Given the description of an element on the screen output the (x, y) to click on. 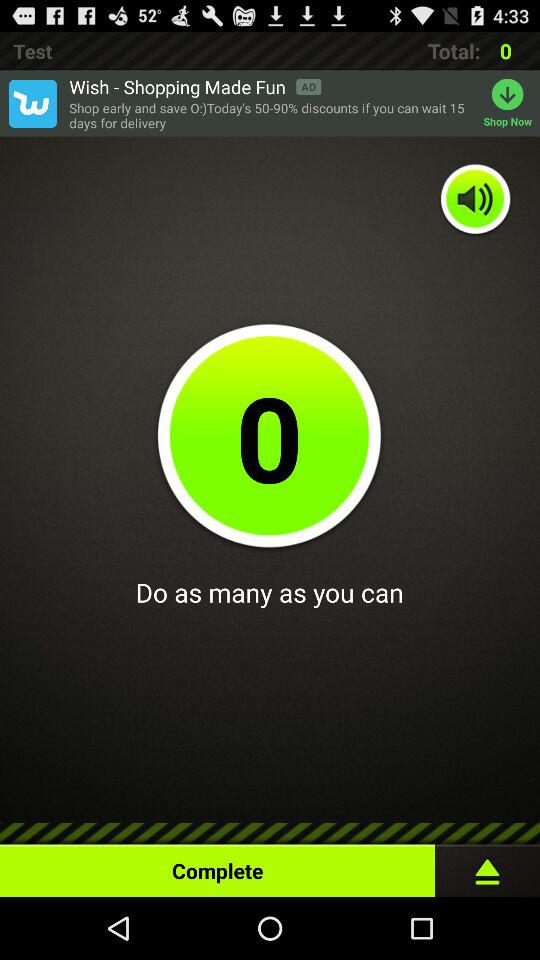
turn off sound (475, 200)
